Given the description of an element on the screen output the (x, y) to click on. 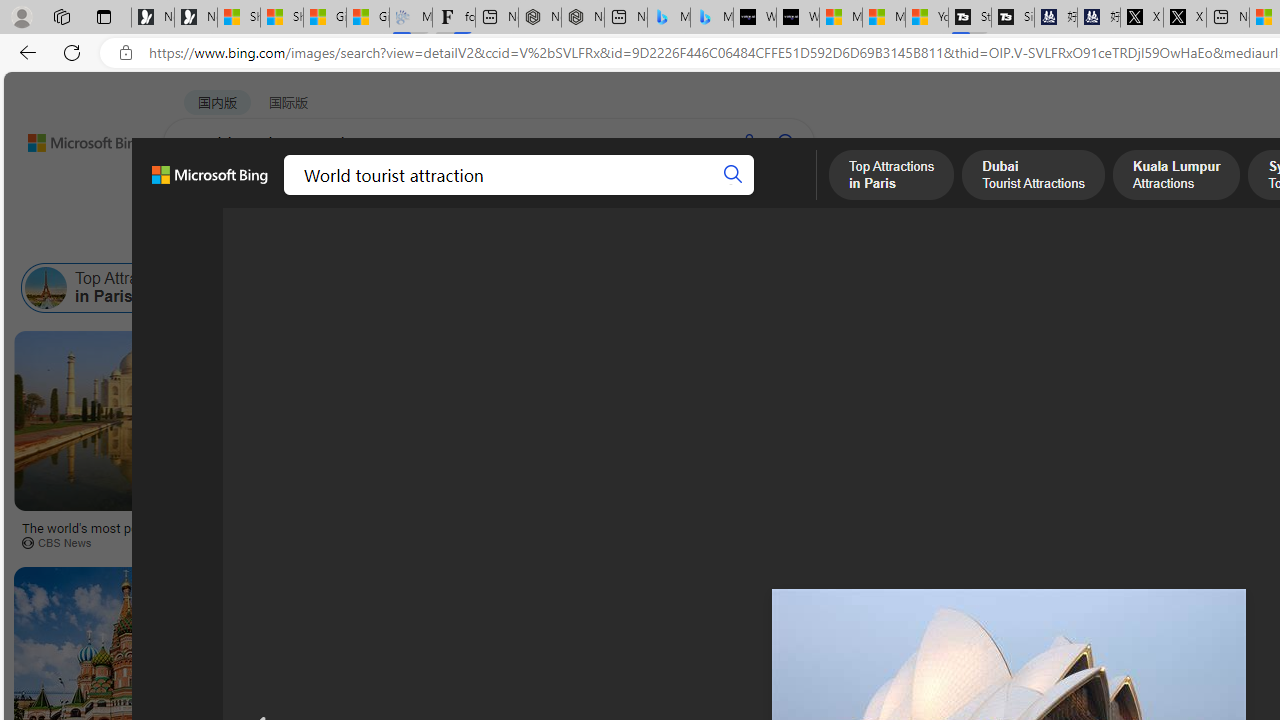
Dropdown Menu (779, 195)
Color (305, 237)
Nordace - #1 Japanese Best-Seller - Siena Smart Backpack (582, 17)
karryon.com.au (1007, 542)
Type (372, 237)
CBS News (132, 542)
Sydney Australia Tourist Attractions (710, 287)
Image result for World tourist attraction (1007, 421)
Microsoft Start Sports (840, 17)
Shanghai, China weather forecast | Microsoft Weather (282, 17)
DICT (630, 195)
Microsoft Bing Travel - Stays in Bangkok, Bangkok, Thailand (668, 17)
